Given the description of an element on the screen output the (x, y) to click on. 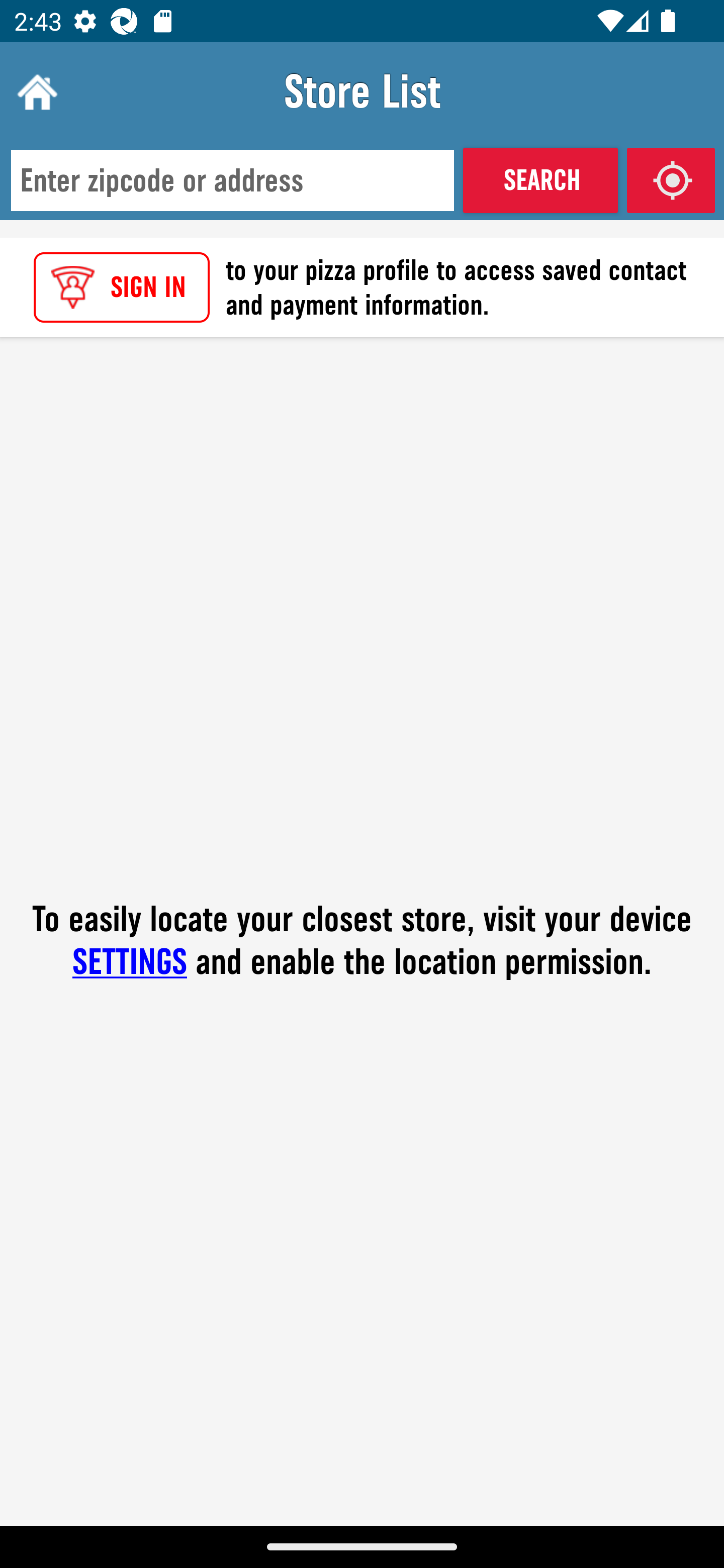
Home (35, 91)
SEARCH (540, 180)
Use Current Location (670, 180)
Enter zipcode or address (231, 180)
SIGN IN (121, 287)
